Given the description of an element on the screen output the (x, y) to click on. 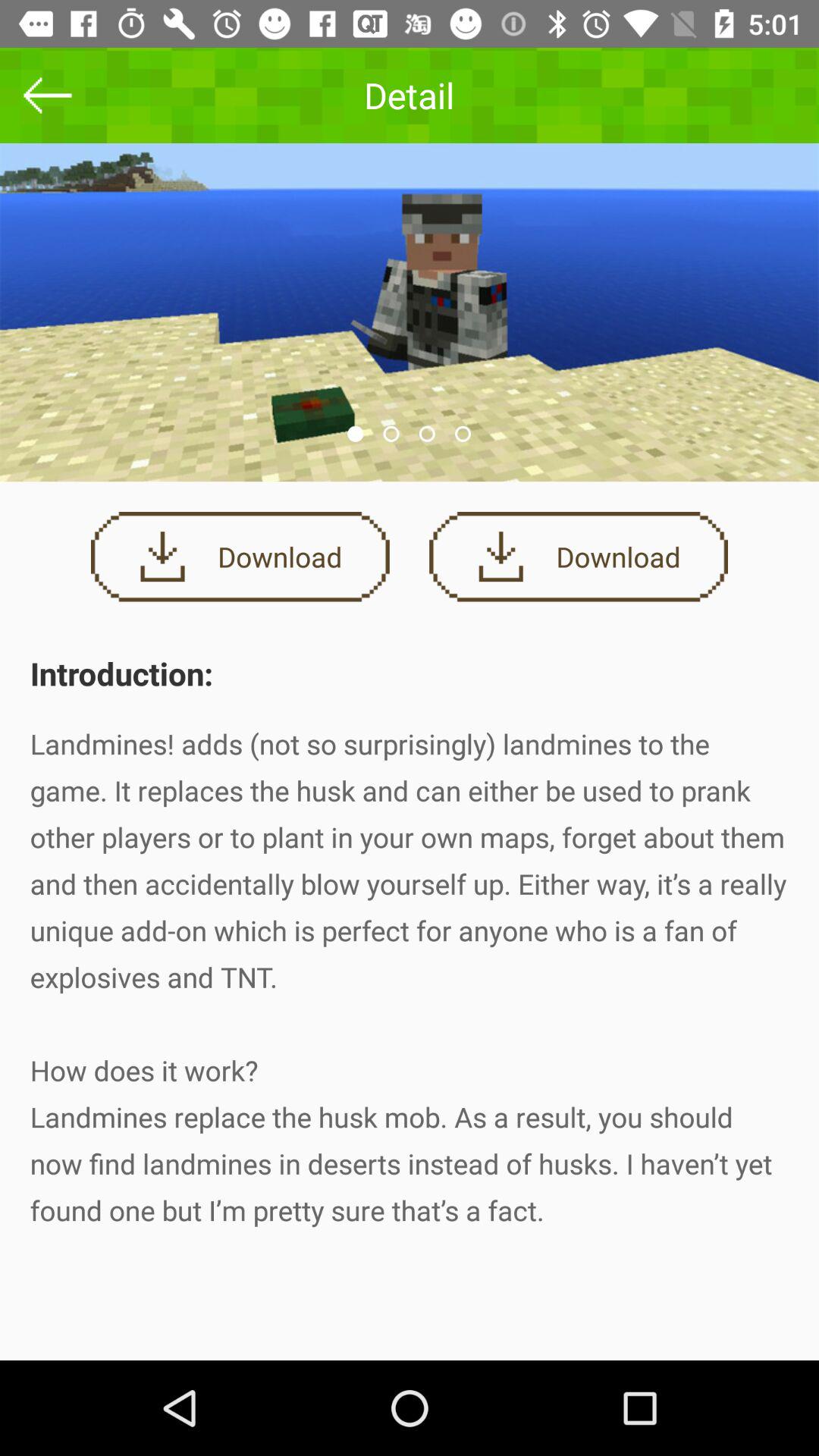
go to previous page (47, 95)
